Given the description of an element on the screen output the (x, y) to click on. 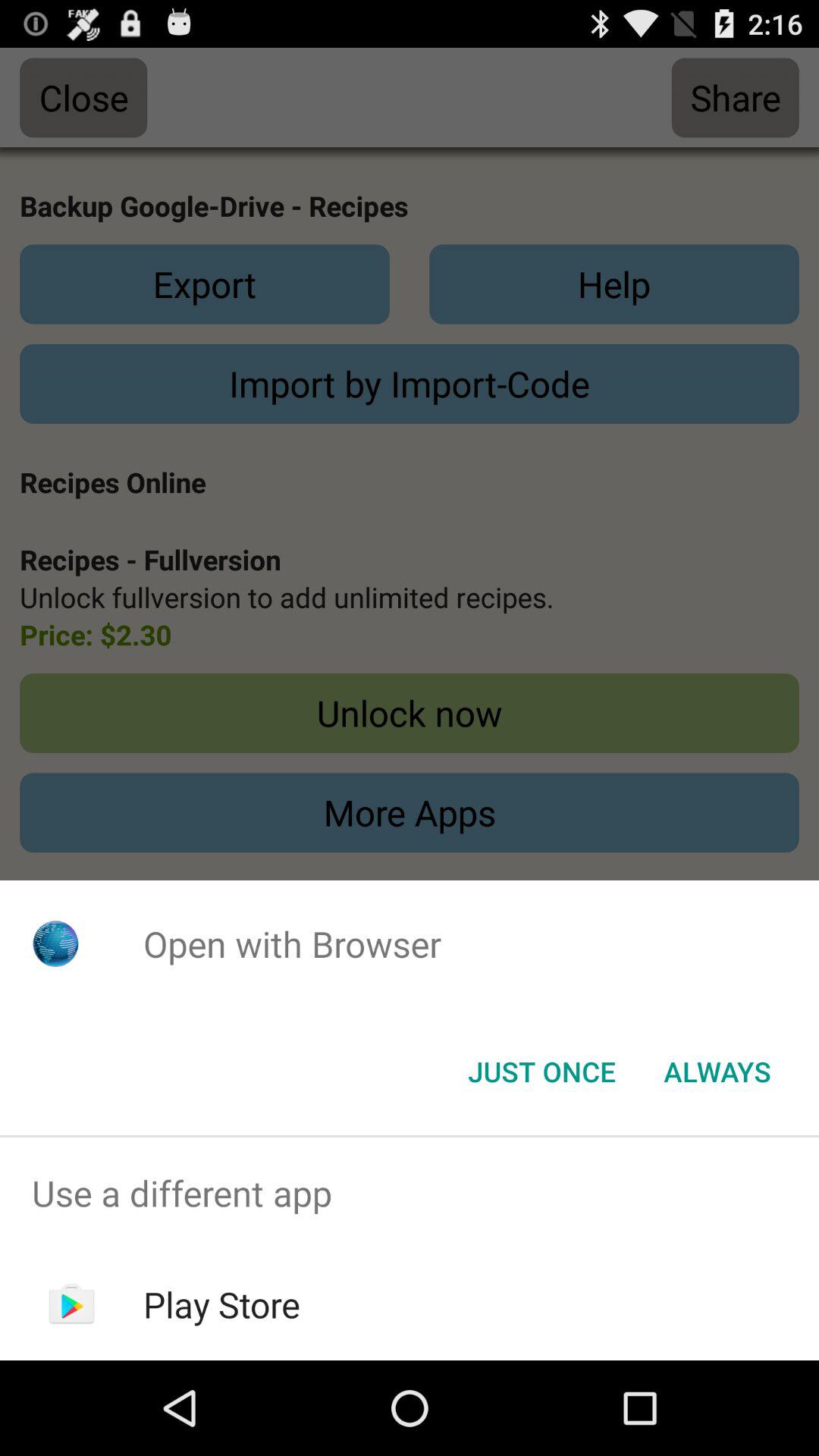
launch item to the left of the always icon (541, 1071)
